Given the description of an element on the screen output the (x, y) to click on. 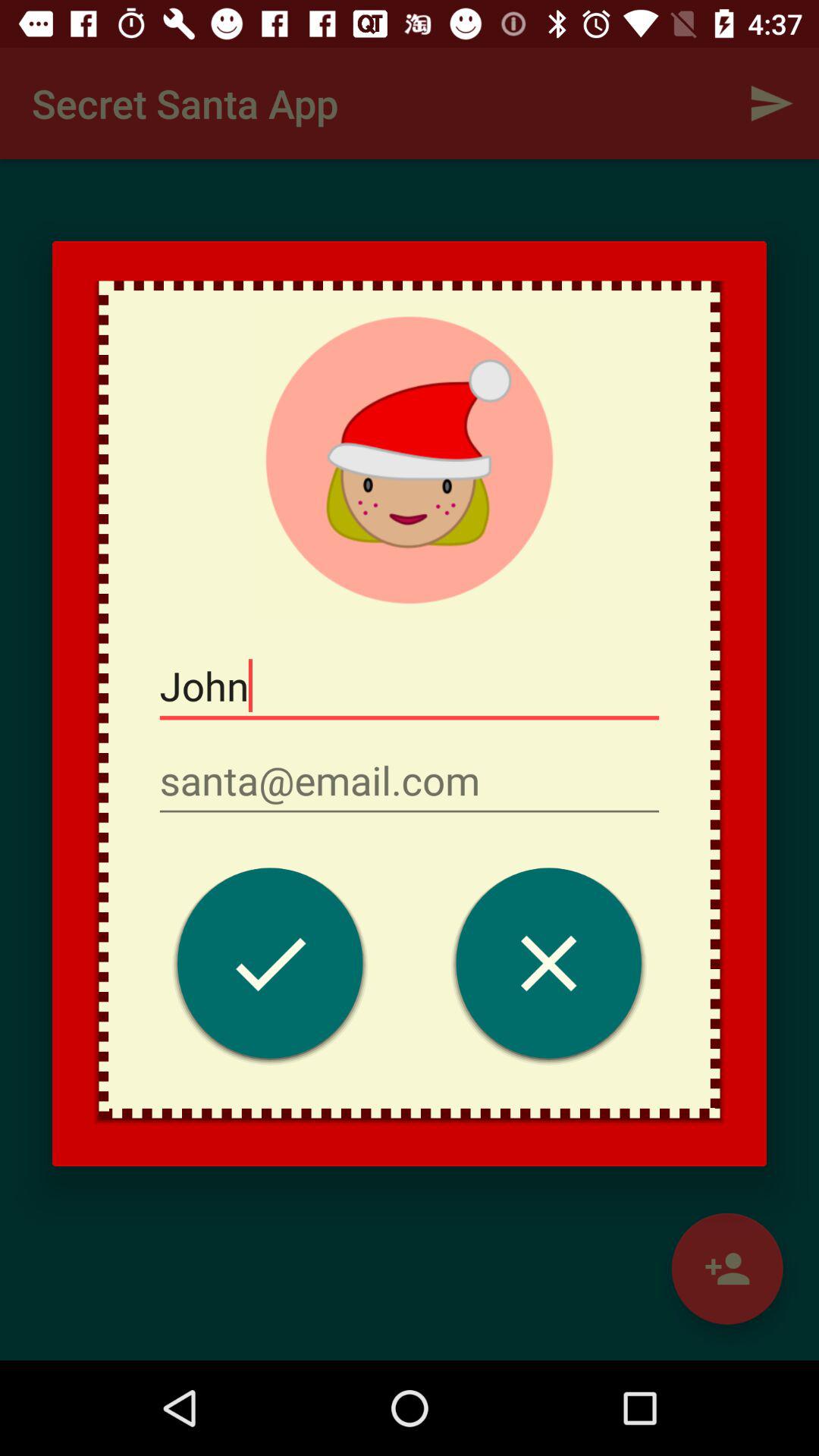
abort function (548, 966)
